Given the description of an element on the screen output the (x, y) to click on. 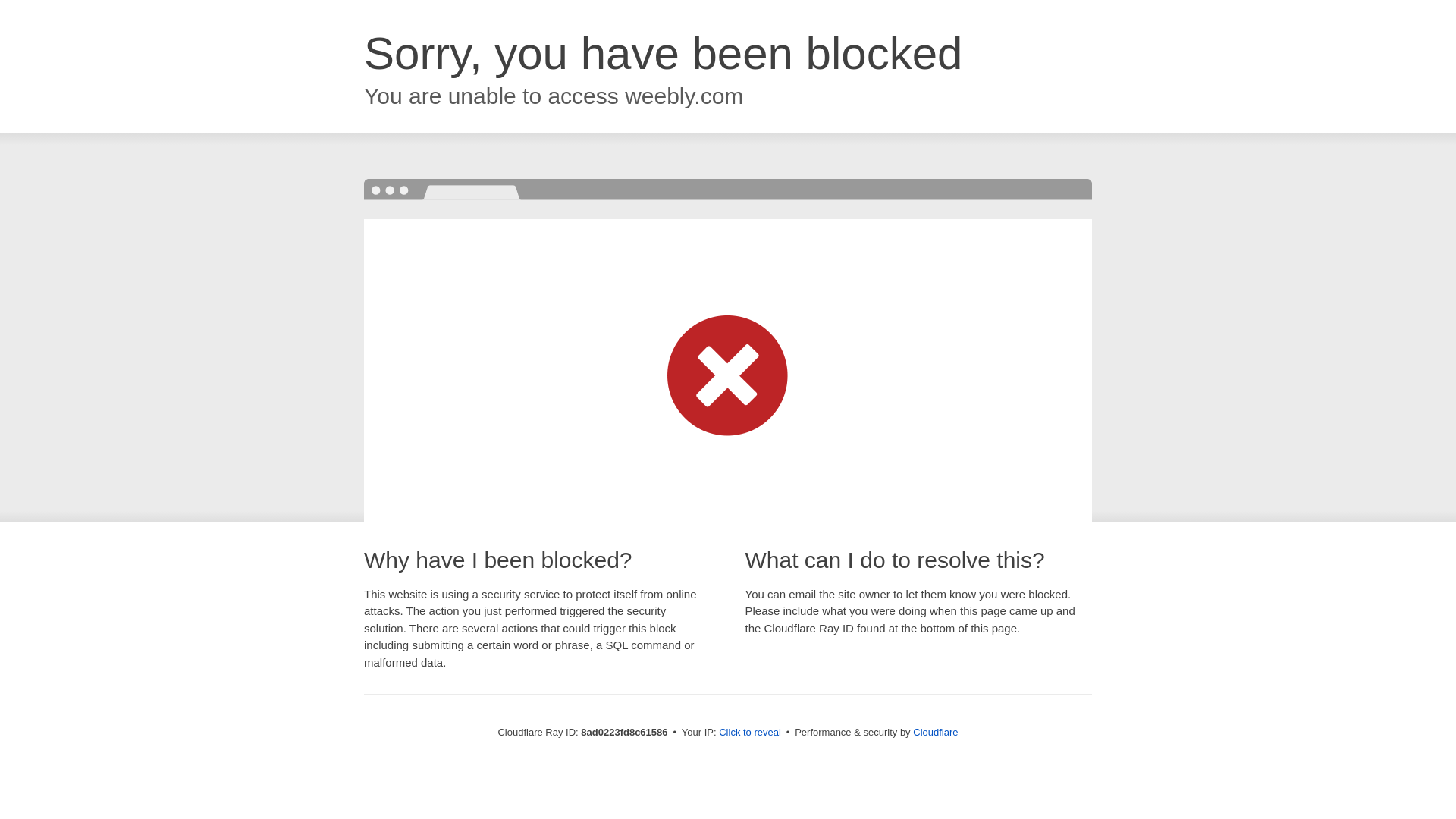
Cloudflare (935, 731)
Click to reveal (749, 732)
